Given the description of an element on the screen output the (x, y) to click on. 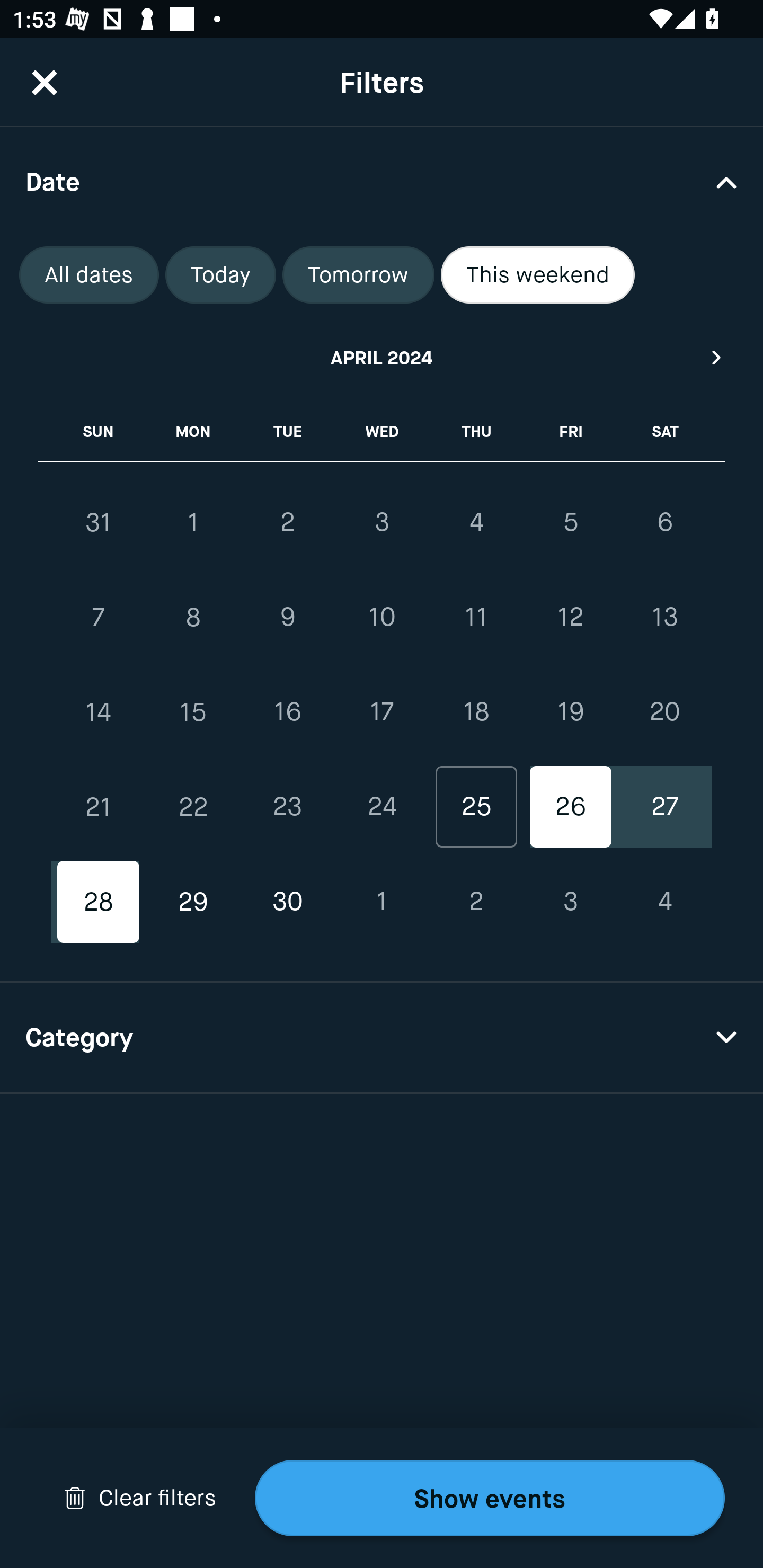
CloseButton (44, 82)
Date Drop Down Arrow (381, 181)
All dates (88, 274)
Today (220, 274)
Tomorrow (358, 274)
This weekend (537, 274)
Next (717, 357)
31 (98, 522)
1 (192, 522)
2 (287, 522)
3 (381, 522)
4 (475, 522)
5 (570, 522)
6 (664, 522)
7 (98, 617)
8 (192, 617)
9 (287, 617)
10 (381, 617)
11 (475, 617)
12 (570, 617)
13 (664, 617)
14 (98, 711)
15 (192, 711)
16 (287, 711)
17 (381, 711)
18 (475, 711)
19 (570, 711)
20 (664, 711)
21 (98, 806)
22 (192, 806)
23 (287, 806)
24 (381, 806)
25 (475, 806)
26 (570, 806)
27 (664, 806)
28 (98, 901)
29 (192, 901)
30 (287, 901)
1 (381, 901)
2 (475, 901)
3 (570, 901)
4 (664, 901)
Category Drop Down Arrow (381, 1038)
Drop Down Arrow Clear filters (139, 1497)
Show events (489, 1497)
